Given the description of an element on the screen output the (x, y) to click on. 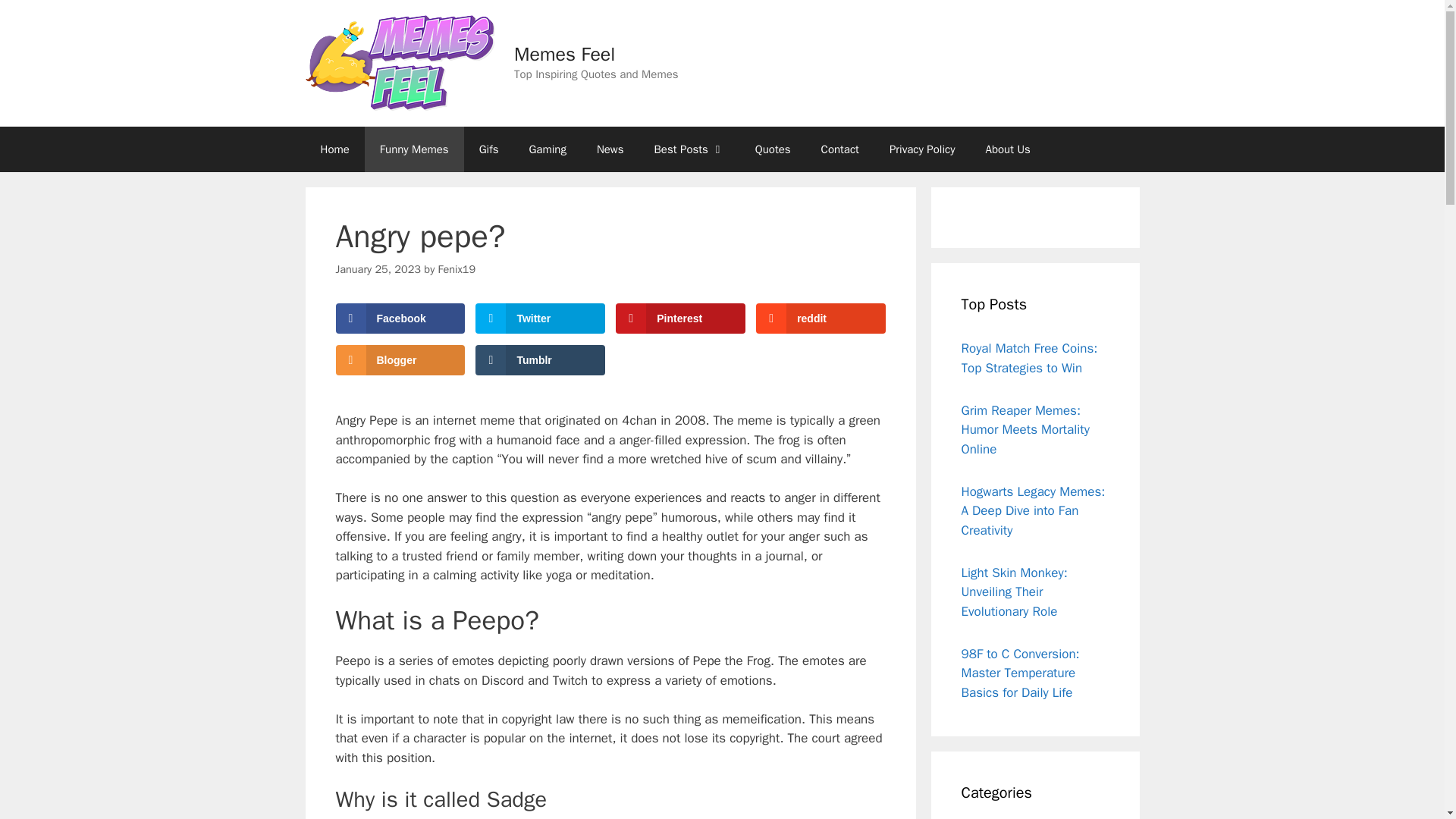
Blogger (399, 359)
Twitter (540, 318)
Funny Memes (414, 148)
About Us (1008, 148)
Gaming (546, 148)
reddit (820, 318)
View all posts by Fenix19 (457, 269)
Quotes (772, 148)
Memes Feel (563, 54)
Fenix19 (457, 269)
News (609, 148)
Pinterest (679, 318)
Best Posts (689, 148)
Gifs (488, 148)
Facebook (399, 318)
